Given the description of an element on the screen output the (x, y) to click on. 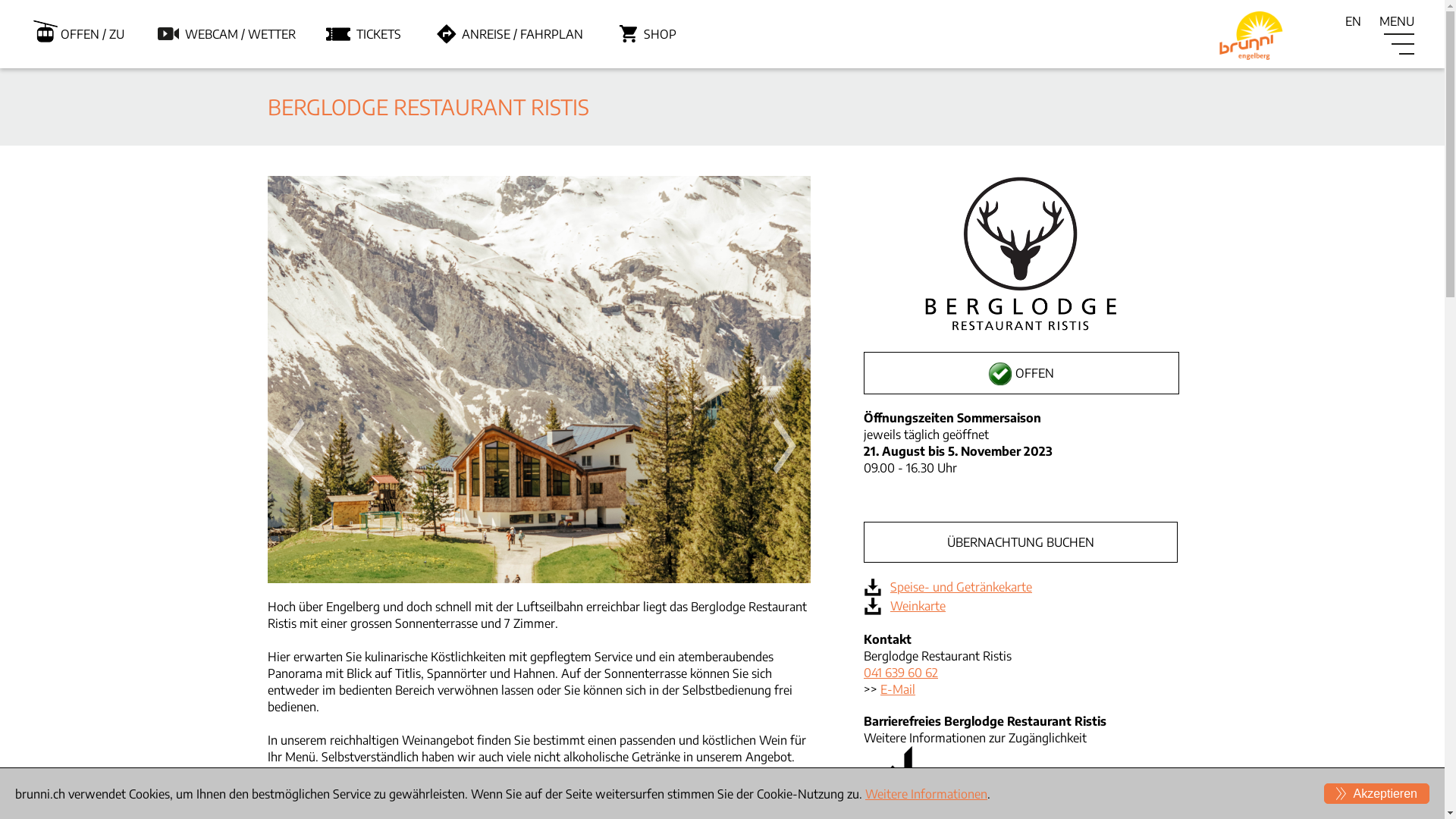
OFFEN / ZU Element type: text (92, 33)
Weitere Informationen Element type: text (926, 792)
ANREISE / FAHRPLAN Element type: text (522, 33)
WEBCAM / WETTER Element type: text (240, 33)
Weinkarte Element type: text (917, 605)
Previous Element type: text (290, 445)
TICKETS Element type: text (378, 33)
Akzeptieren Element type: text (1377, 793)
041 639 60 62 Element type: text (900, 672)
E-Mail Element type: text (897, 688)
SHOP Element type: text (659, 33)
Next Element type: text (786, 445)
